Given the description of an element on the screen output the (x, y) to click on. 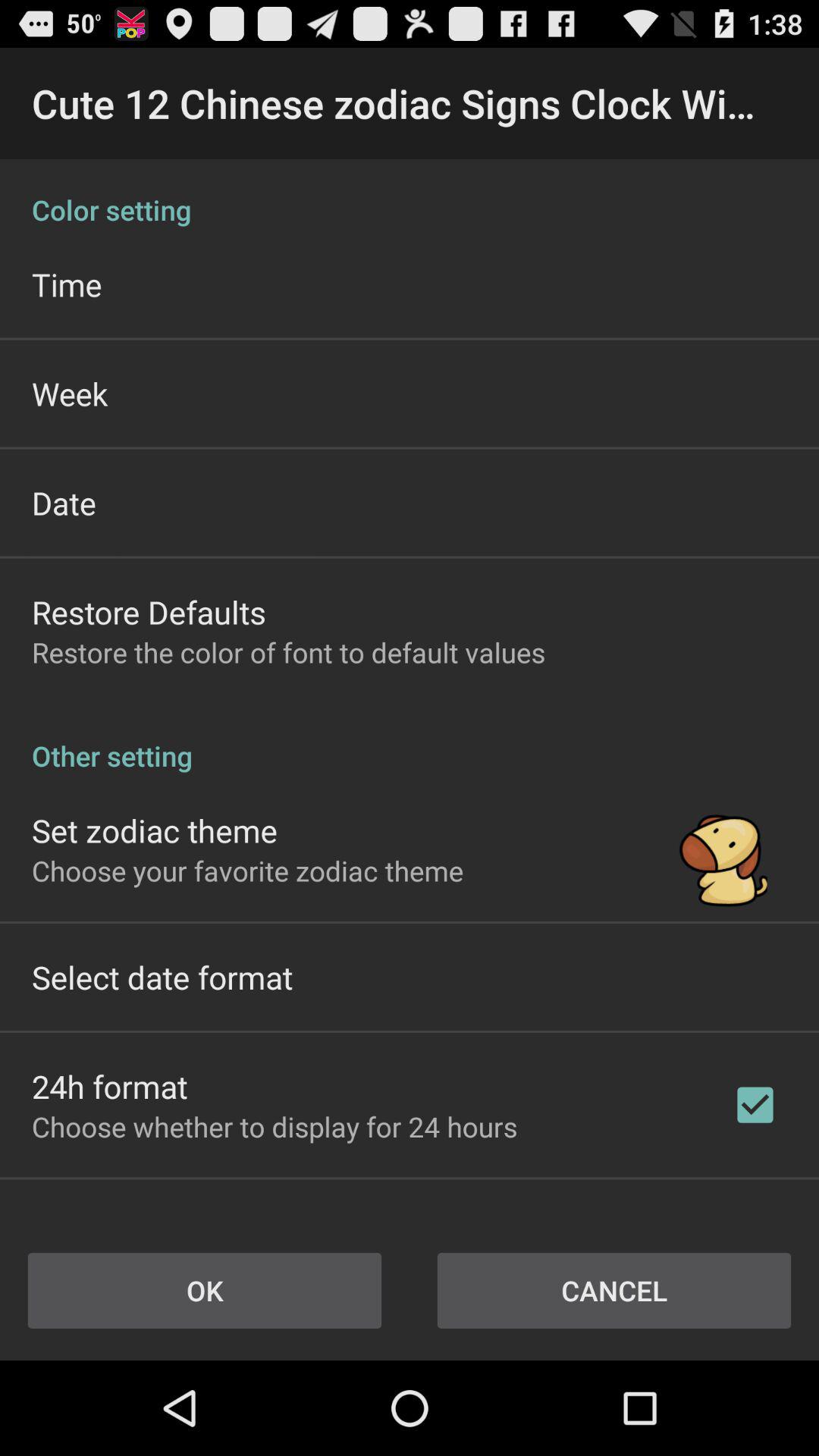
open the item next to cancel item (204, 1290)
